Given the description of an element on the screen output the (x, y) to click on. 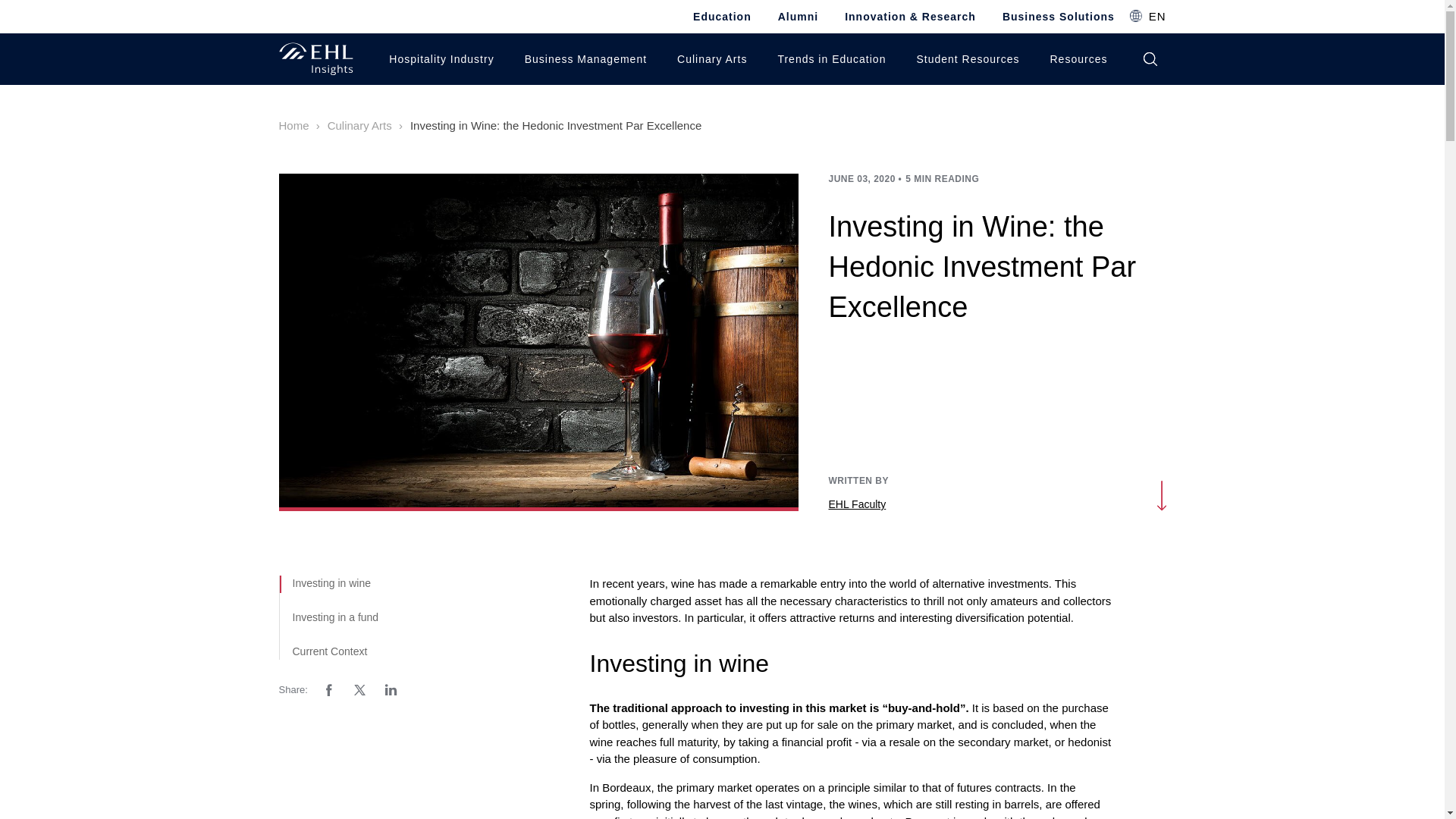
Hospitality Industry (437, 59)
Business Management (581, 59)
Business Solutions (1059, 17)
Alumni (797, 17)
Education (722, 17)
EN (1147, 15)
Logo Hospitality Insights (316, 59)
Trends in Education (827, 59)
Culinary Arts (707, 59)
